Given the description of an element on the screen output the (x, y) to click on. 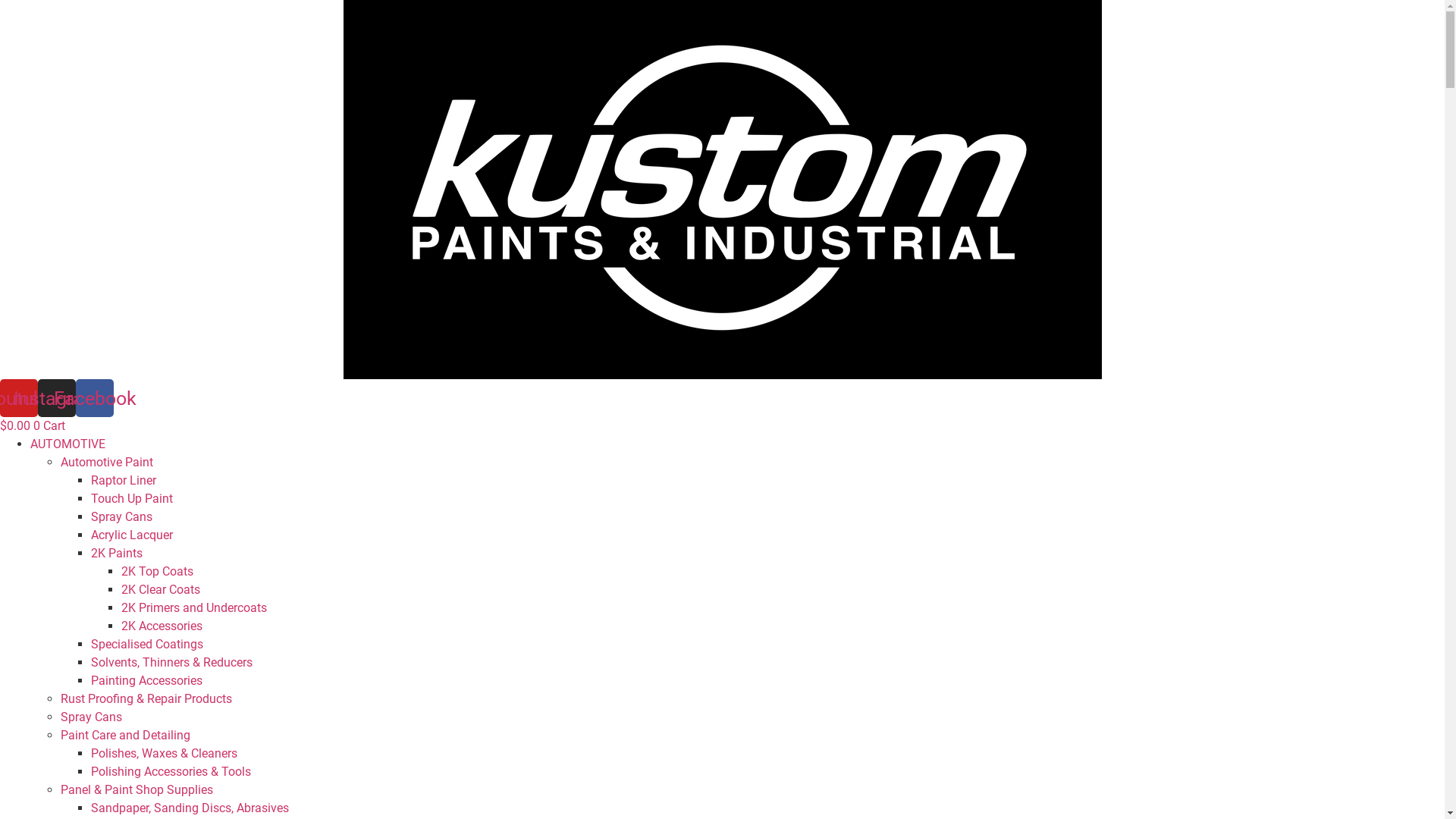
2K Clear Coats Element type: text (160, 589)
Acrylic Lacquer Element type: text (131, 534)
2K Accessories Element type: text (161, 625)
Youtube Element type: text (18, 398)
2K Primers and Undercoats Element type: text (193, 607)
Painting Accessories Element type: text (146, 680)
Polishes, Waxes & Cleaners Element type: text (164, 753)
Facebook Element type: text (94, 398)
Specialised Coatings Element type: text (147, 644)
Spray Cans Element type: text (91, 716)
Sandpaper, Sanding Discs, Abrasives Element type: text (189, 807)
Panel & Paint Shop Supplies Element type: text (136, 789)
AUTOMOTIVE Element type: text (67, 443)
Spray Cans Element type: text (121, 516)
Touch Up Paint Element type: text (131, 498)
Instagram Element type: text (56, 398)
Polishing Accessories & Tools Element type: text (171, 771)
Solvents, Thinners & Reducers Element type: text (171, 662)
Rust Proofing & Repair Products Element type: text (146, 698)
Automotive Paint Element type: text (106, 462)
2K Top Coats Element type: text (157, 571)
$0.00 0 Cart Element type: text (32, 425)
Paint Care and Detailing Element type: text (125, 735)
2K Paints Element type: text (116, 553)
Raptor Liner Element type: text (123, 480)
